Given the description of an element on the screen output the (x, y) to click on. 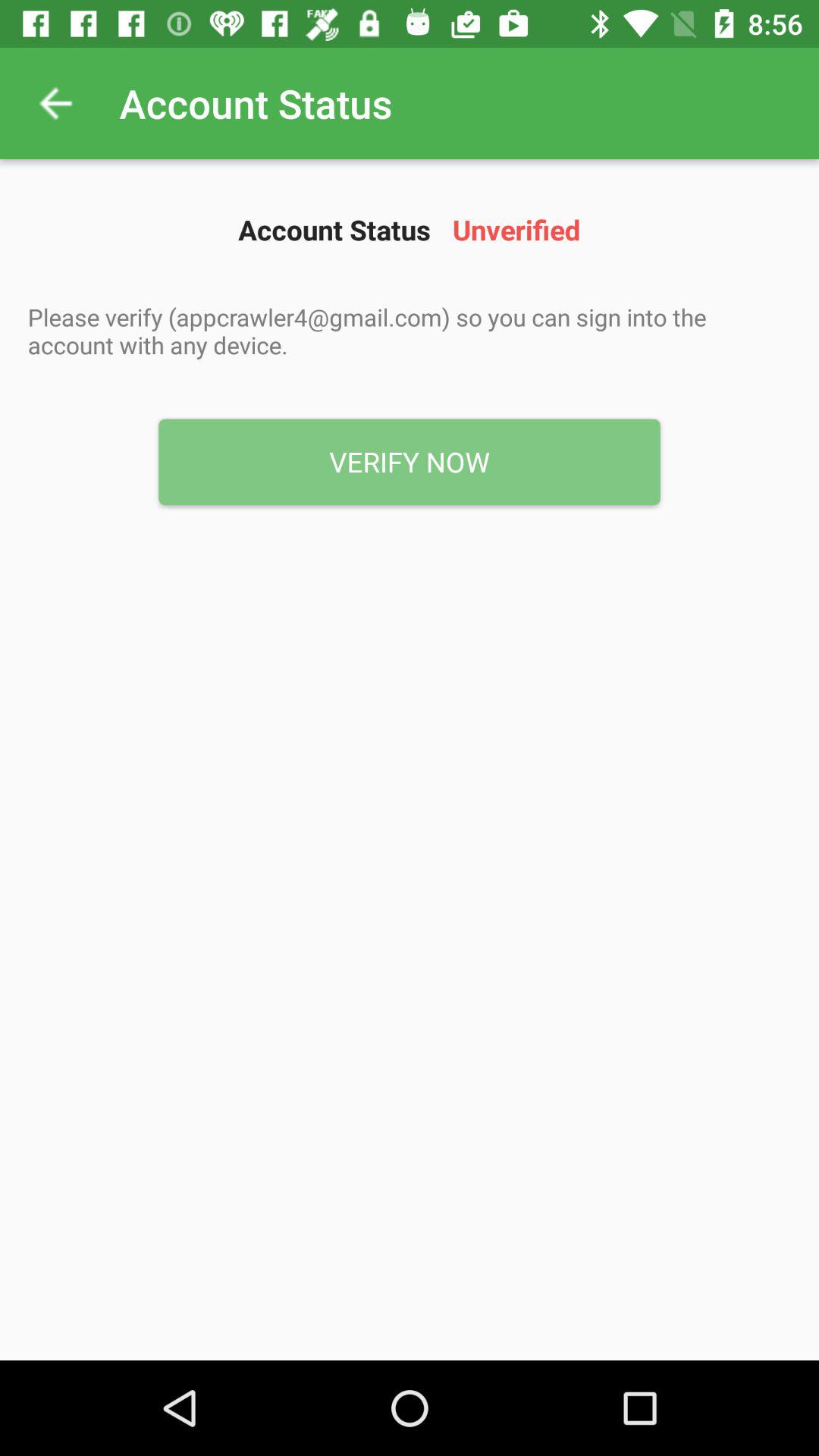
choose the icon below the please verify appcrawler4 item (409, 462)
